Given the description of an element on the screen output the (x, y) to click on. 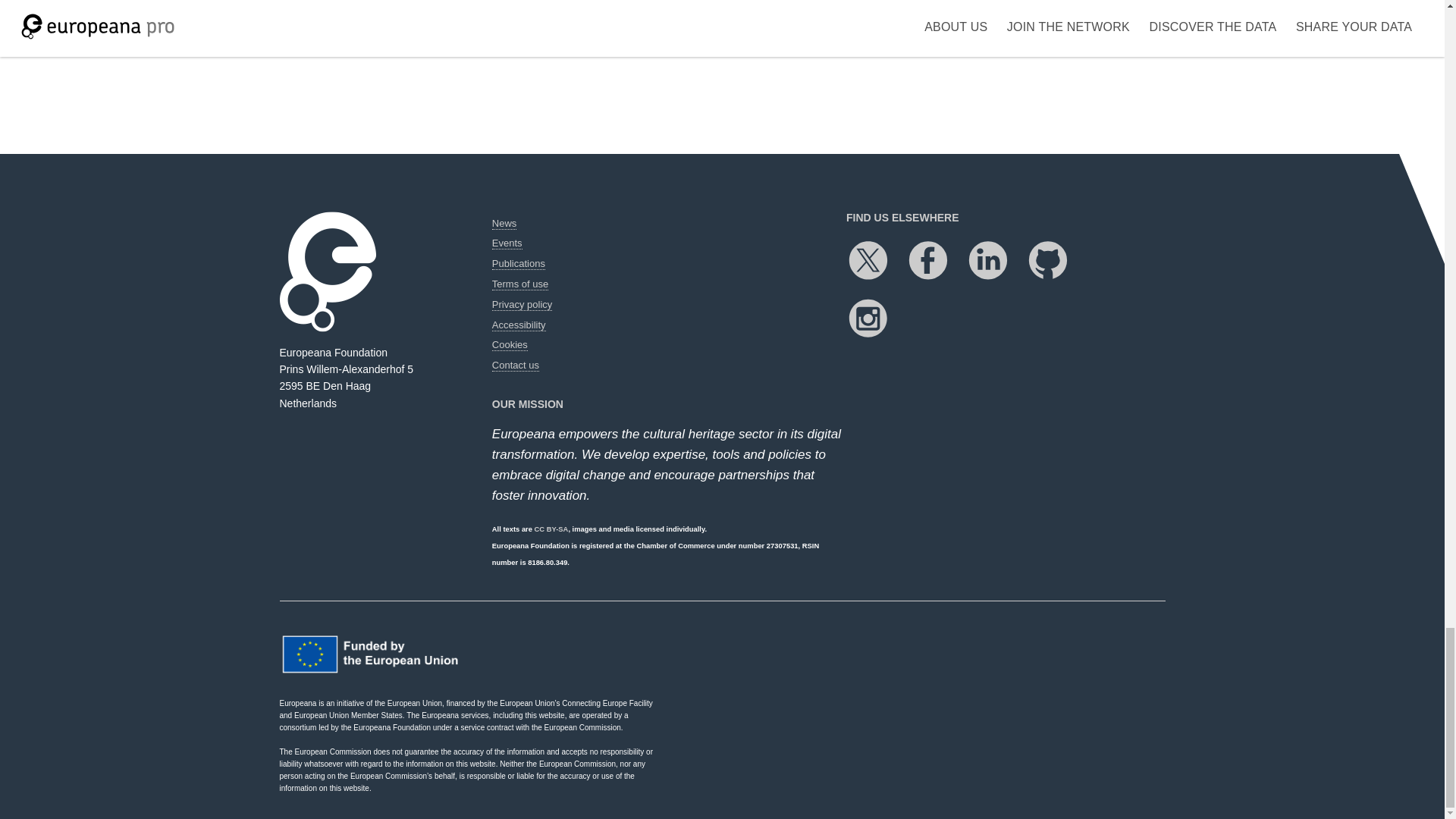
Contact us (515, 365)
Accessibility (519, 325)
News (504, 223)
News (504, 223)
Events (507, 243)
Publications (518, 263)
Linked In (996, 261)
Terms of use (520, 284)
Privacy policy (521, 304)
Publications (518, 263)
